Given the description of an element on the screen output the (x, y) to click on. 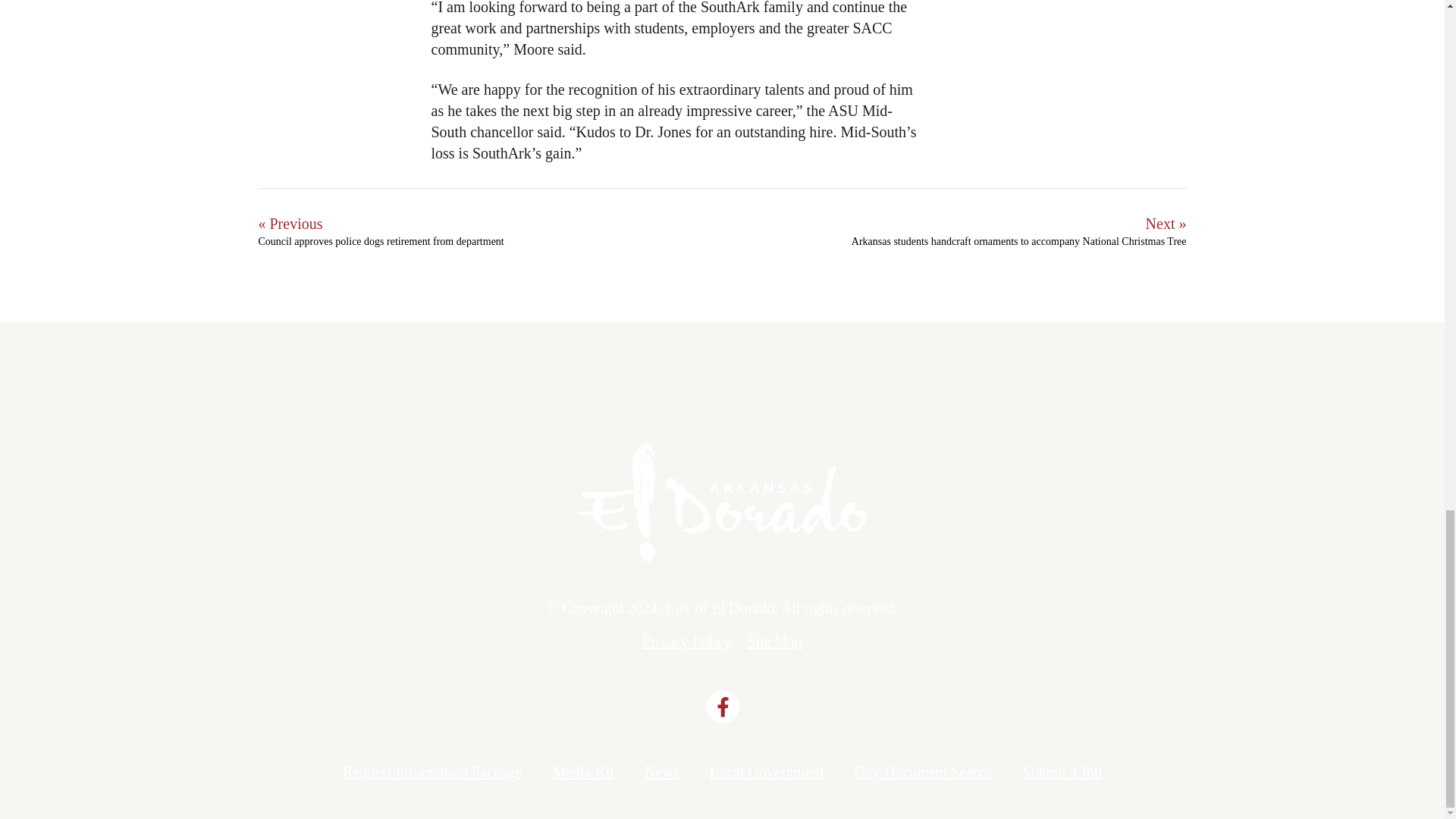
Privacy Policy (686, 641)
Site Map (774, 641)
Submit a Job (1062, 771)
City Document Search (922, 771)
Visit us on Facebook (721, 706)
Media Kit (583, 771)
Local Government (767, 771)
News (662, 771)
Request Information Package (432, 771)
